Given the description of an element on the screen output the (x, y) to click on. 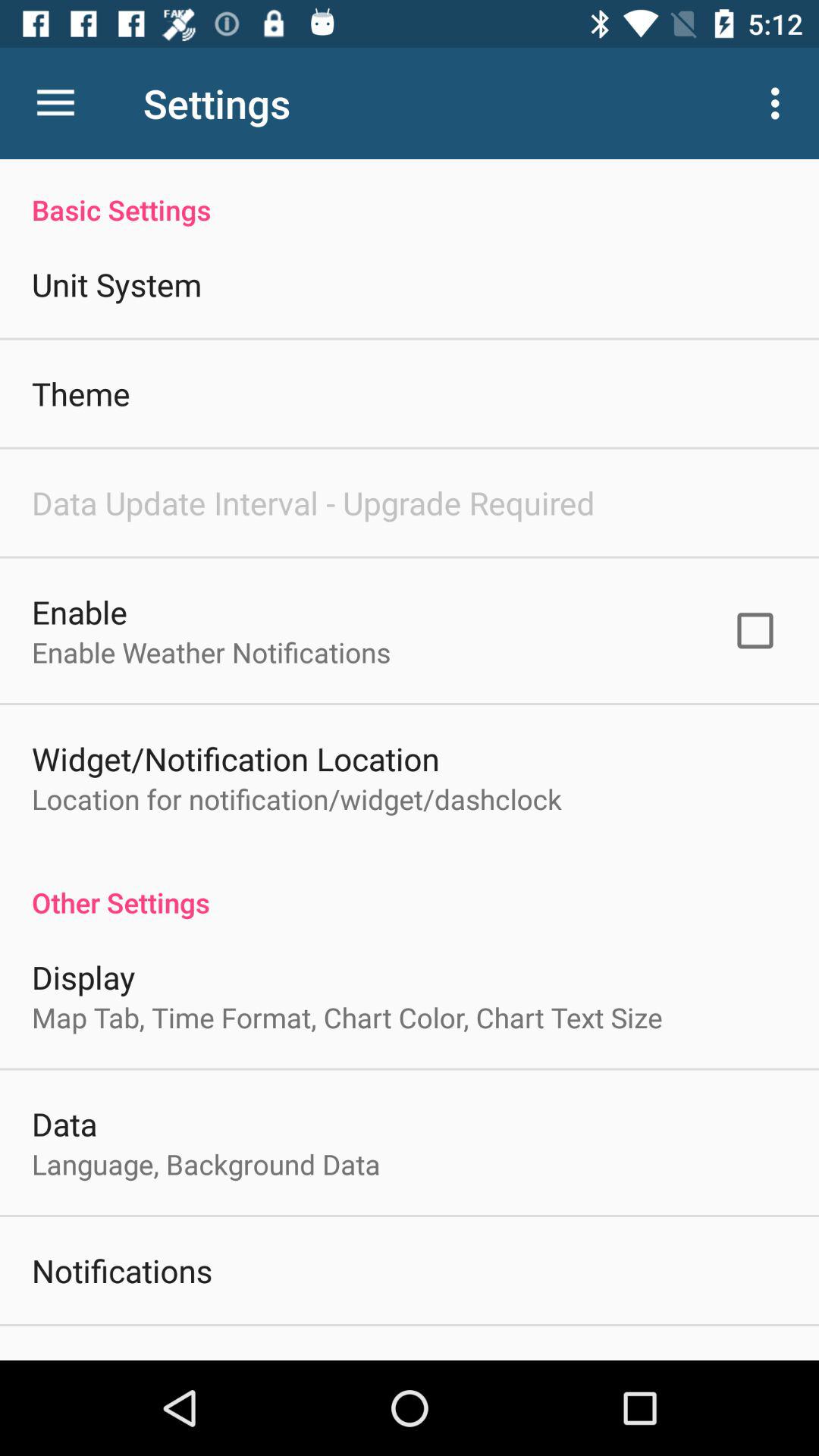
turn on the item below display item (346, 1017)
